Given the description of an element on the screen output the (x, y) to click on. 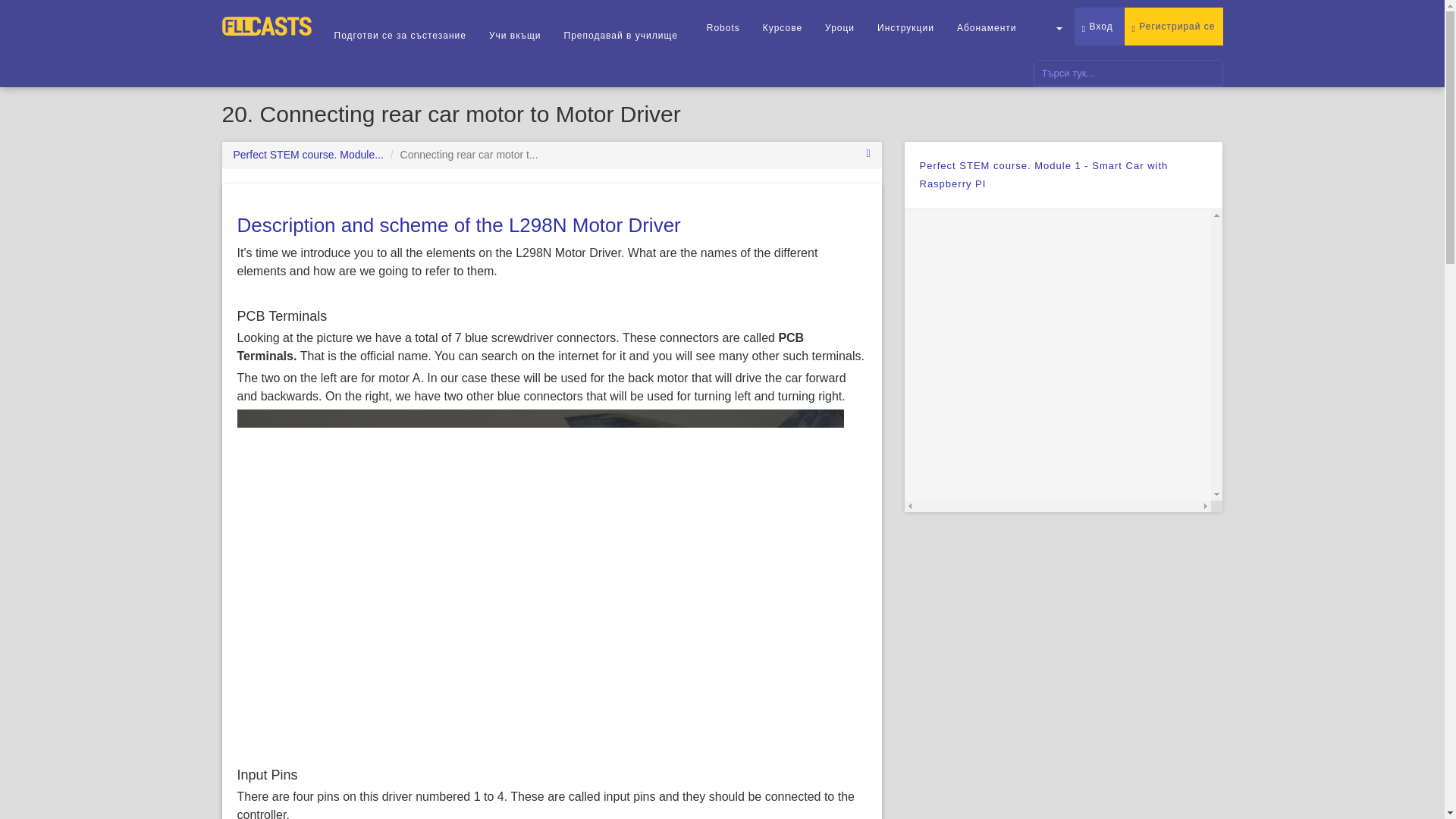
Perfect STEM course. Module... (308, 154)
Search (1213, 72)
Robots (723, 27)
translation missing: bg.Robots (722, 27)
Description and scheme of the L298N Motor Driver (457, 224)
Perfect STEM course. Module 1 - Smart Car with Raspberry PI (1042, 174)
Search (1213, 72)
